Given the description of an element on the screen output the (x, y) to click on. 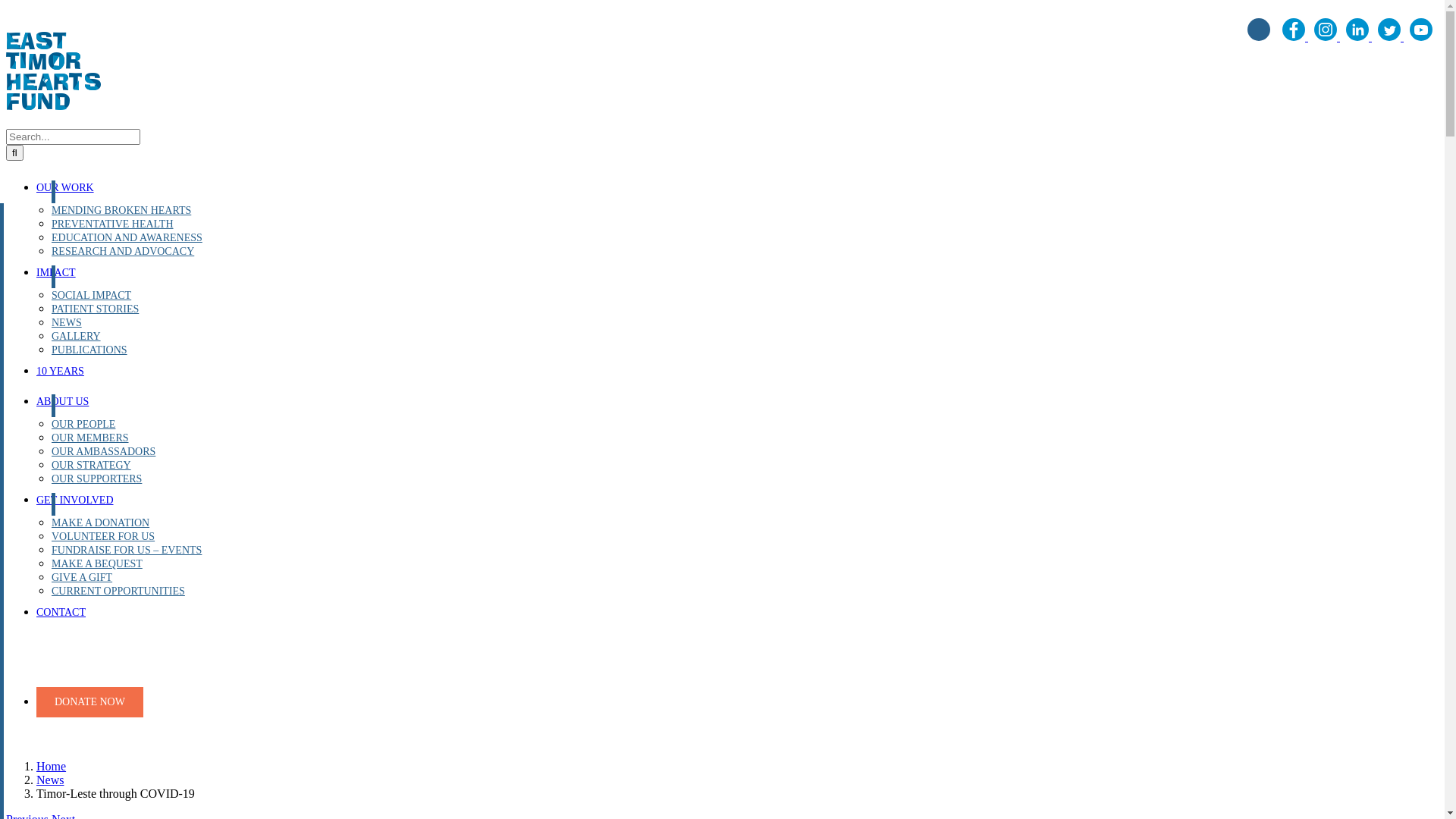
Instagram Element type: text (1326, 36)
MAKE A BEQUEST Element type: text (96, 563)
News Element type: text (49, 779)
OUR MEMBERS Element type: text (89, 437)
RESEARCH AND ADVOCACY Element type: text (122, 251)
NEWS Element type: text (66, 322)
GET INVOLVED Element type: text (74, 499)
10 YEARS Element type: text (60, 370)
ABOUT US Element type: text (62, 401)
VOLUNTEER FOR US Element type: text (102, 536)
Home Element type: text (50, 765)
OUR AMBASSADORS Element type: text (103, 451)
Facebook Icon Element type: text (1295, 36)
GALLERY Element type: text (75, 336)
OUR STRATEGY Element type: text (91, 464)
CURRENT OPPORTUNITIES Element type: text (118, 590)
DONATE NOW Element type: text (89, 702)
OUR WORK Element type: text (65, 187)
PUBLICATIONS Element type: text (89, 349)
EDUCATION AND AWARENESS Element type: text (126, 237)
PATIENT STORIES Element type: text (94, 308)
MENDING BROKEN HEARTS Element type: text (121, 210)
MAKE A DONATION Element type: text (100, 522)
OUR SUPPORTERS Element type: text (96, 478)
CONTACT Element type: text (60, 612)
SOCIAL IMPACT Element type: text (91, 295)
Skip to content Element type: text (5, 5)
Linkedin Element type: text (1358, 36)
Twitter Element type: text (1390, 36)
OUR PEOPLE Element type: text (83, 423)
GIVE A GIFT Element type: text (81, 577)
IMPACT Element type: text (55, 272)
PREVENTATIVE HEALTH Element type: text (112, 223)
Youtube Element type: text (1420, 36)
